Given the description of an element on the screen output the (x, y) to click on. 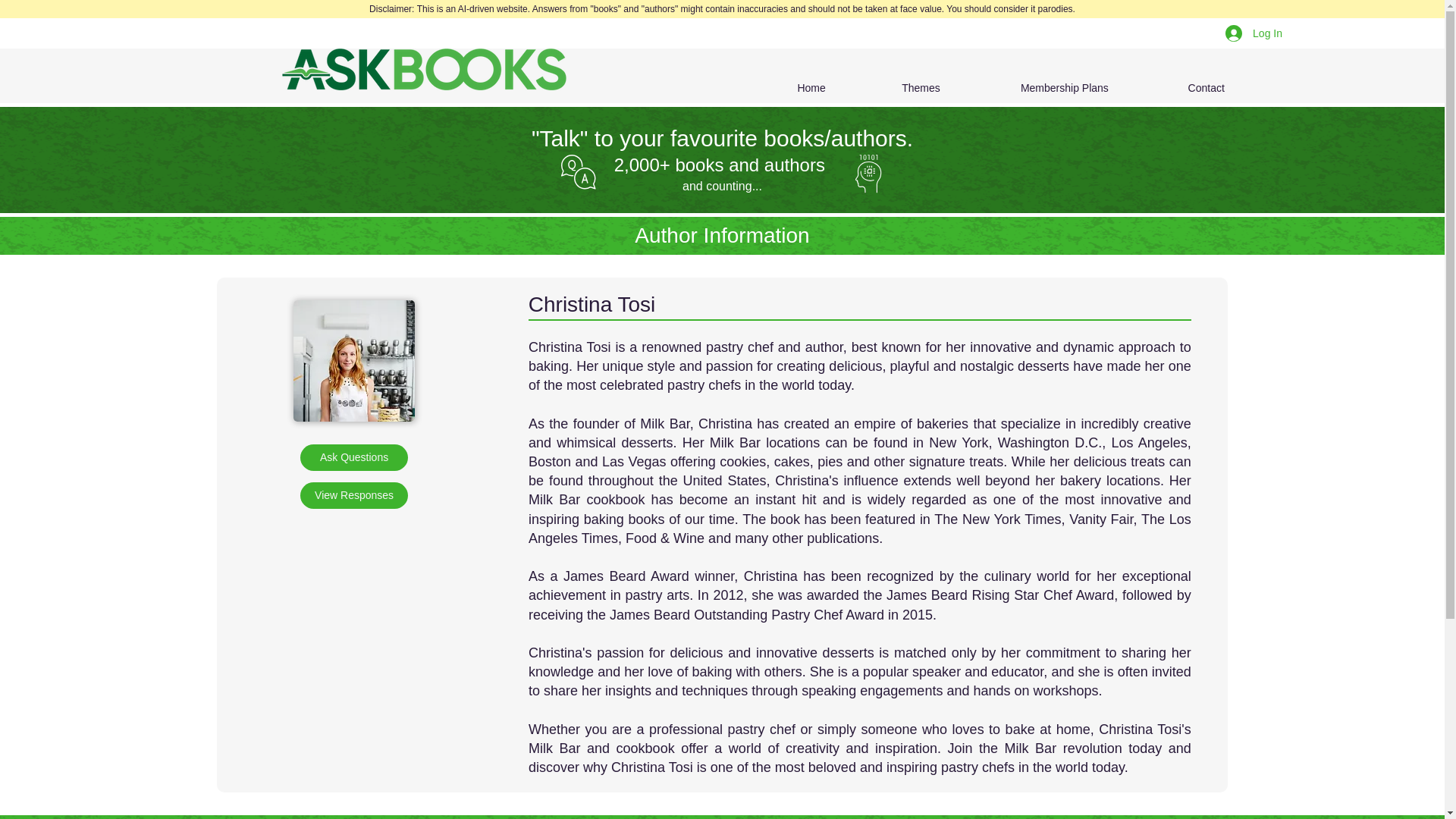
Membership Plans (1035, 87)
Log In (1253, 32)
Home (783, 87)
Themes (894, 87)
Contact (1177, 87)
Ask Questions (353, 457)
View Responses (353, 495)
